Given the description of an element on the screen output the (x, y) to click on. 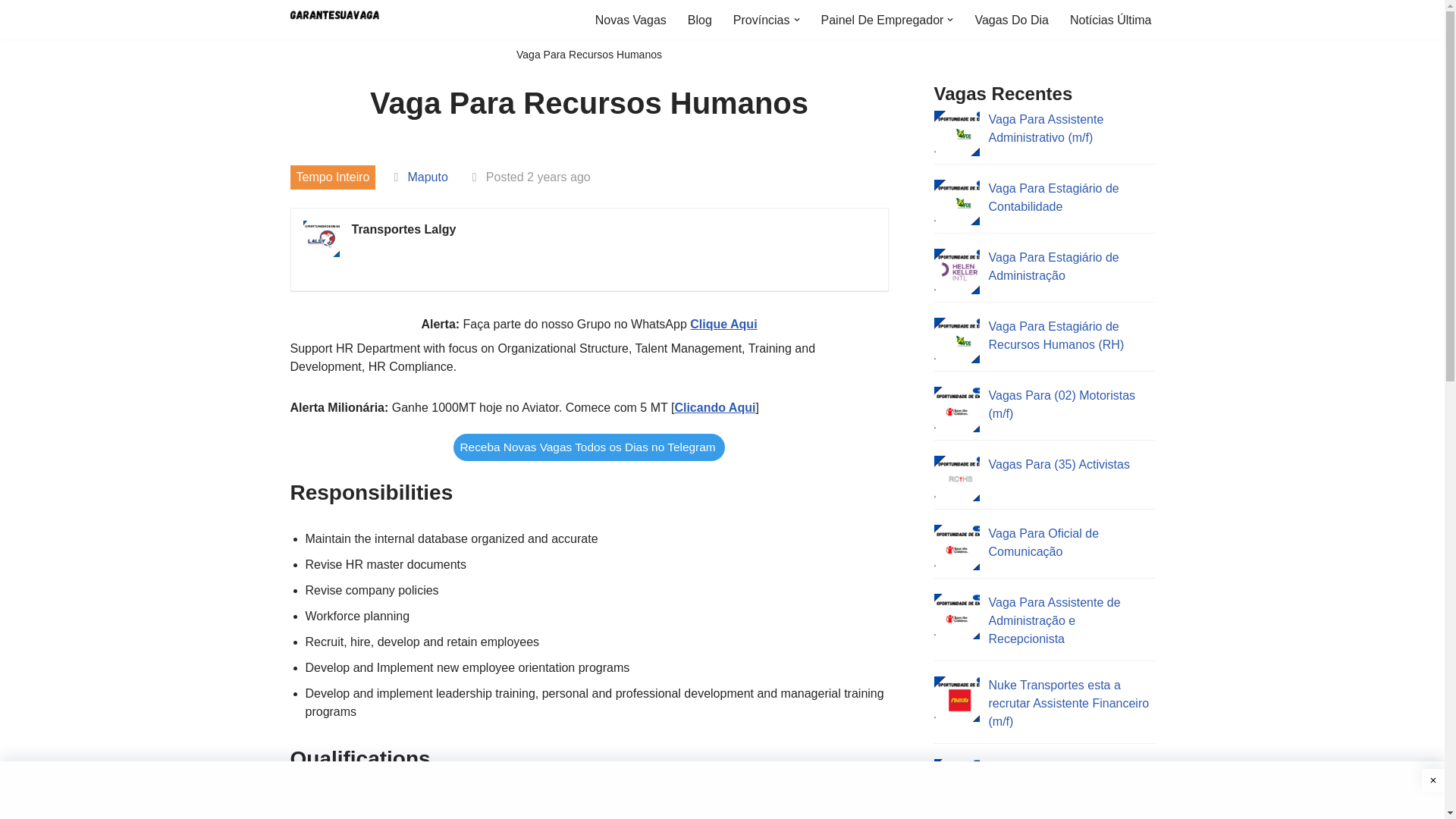
Skip to content (11, 31)
Navigation Menu (1418, 18)
Vagas Do Dia (1011, 19)
Novas Vagas (630, 19)
Painel De Empregador (882, 19)
Blog (699, 19)
